Given the description of an element on the screen output the (x, y) to click on. 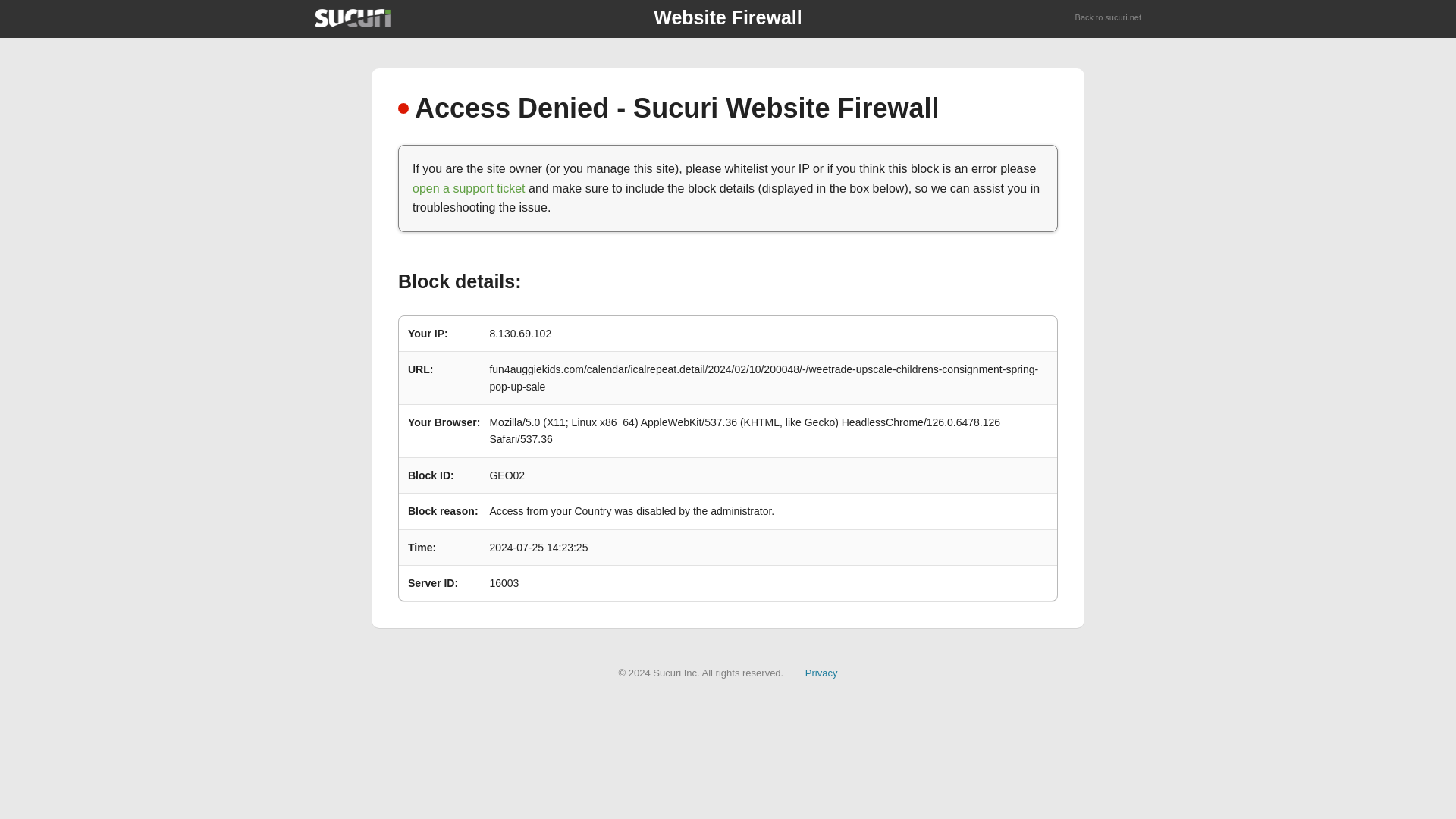
open a support ticket (468, 187)
Back to sucuri.net (1108, 18)
Privacy (821, 672)
